Given the description of an element on the screen output the (x, y) to click on. 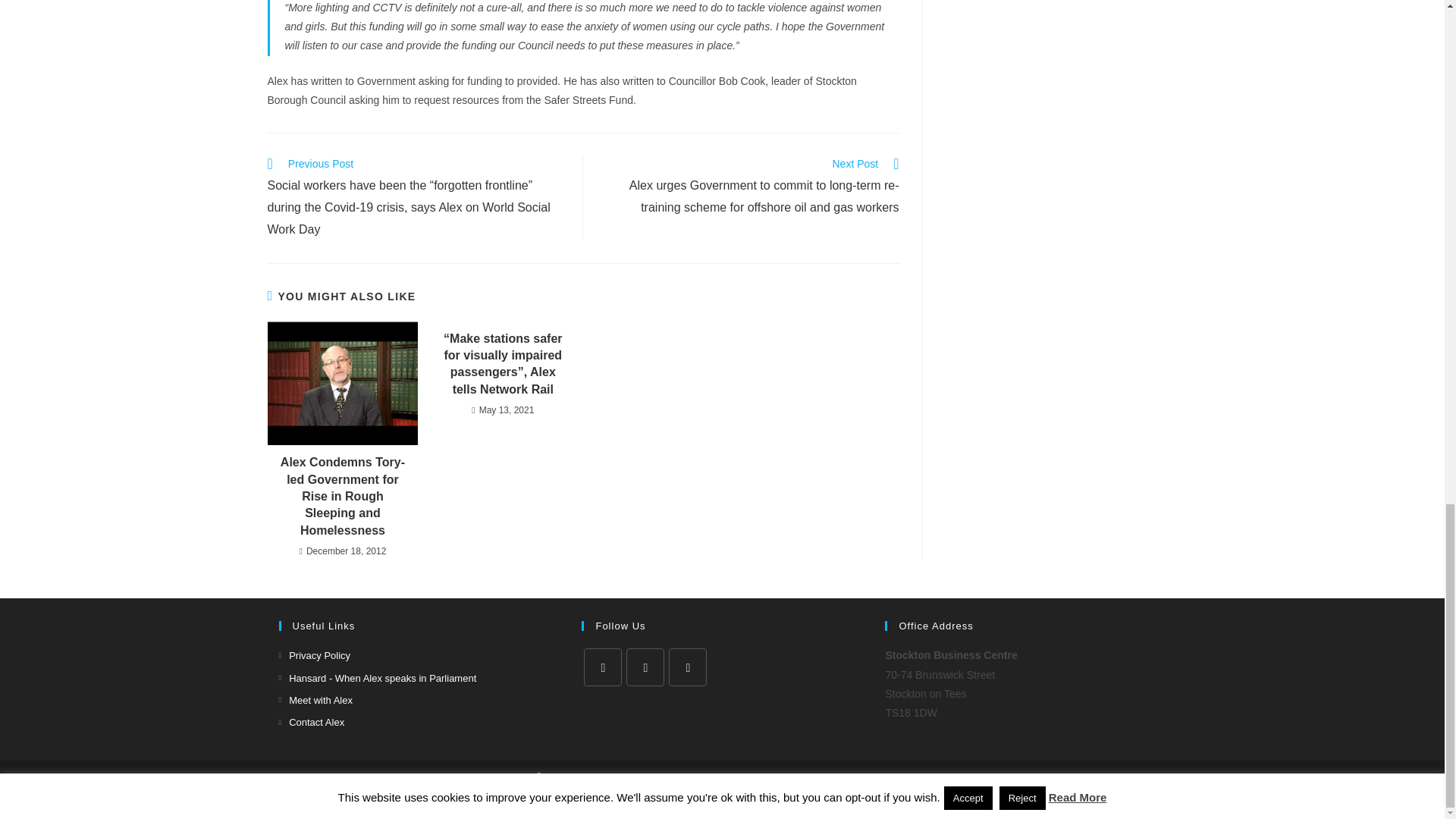
Orange Penguin Design Limited (858, 777)
Privacy Policy (314, 655)
Contact Alex (312, 722)
Hansard - When Alex speaks in Parliament (378, 678)
Meet with Alex (315, 700)
Orange Penguin Design (858, 777)
